Given the description of an element on the screen output the (x, y) to click on. 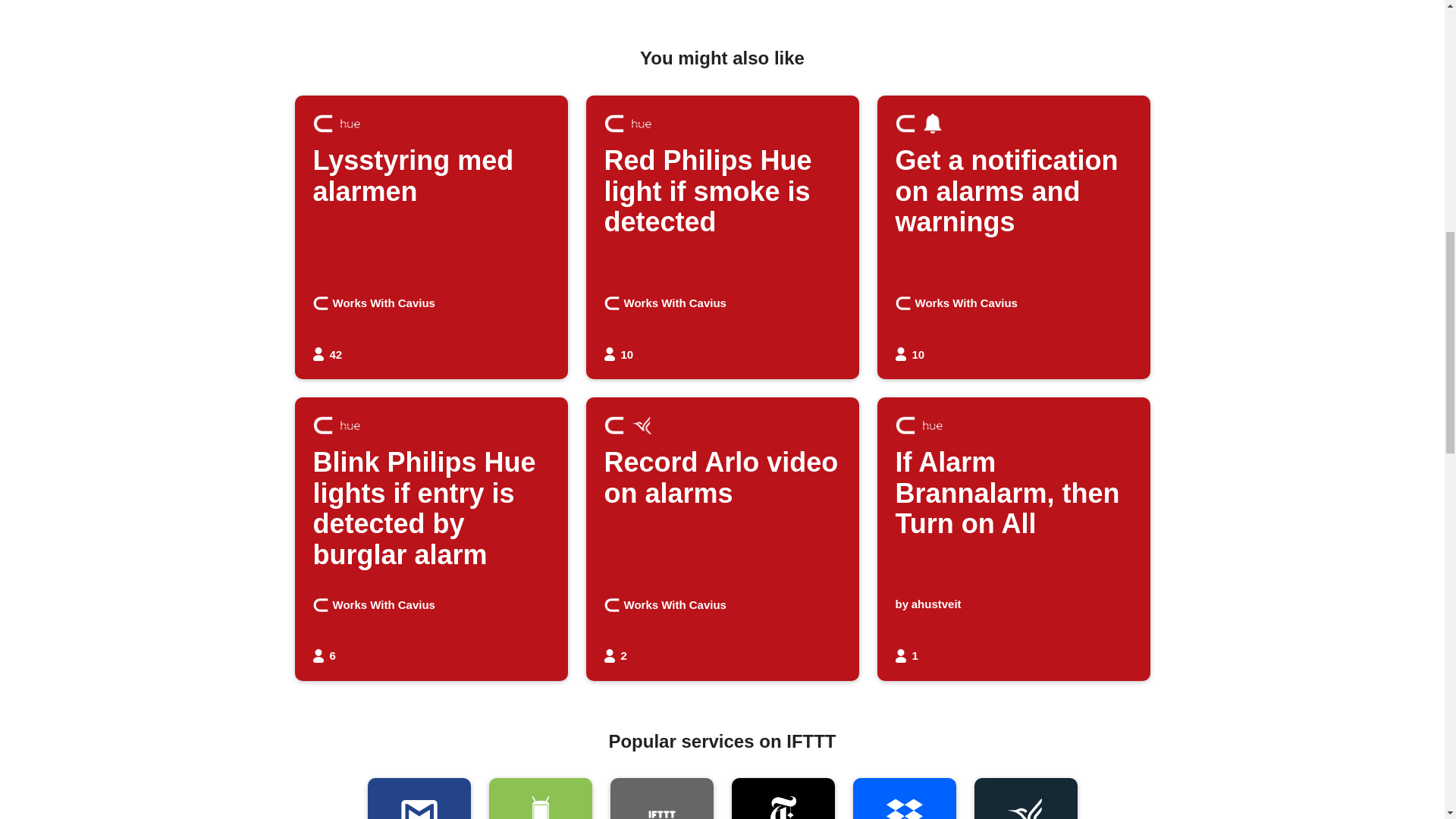
Philips Hue (349, 123)
IFTTT (722, 538)
Arlo (661, 798)
Dropbox (1025, 798)
Android Device (903, 798)
Works With Cavius (539, 798)
The New York Times (322, 123)
Works With Cavius (782, 798)
Gmail (320, 303)
